Given the description of an element on the screen output the (x, y) to click on. 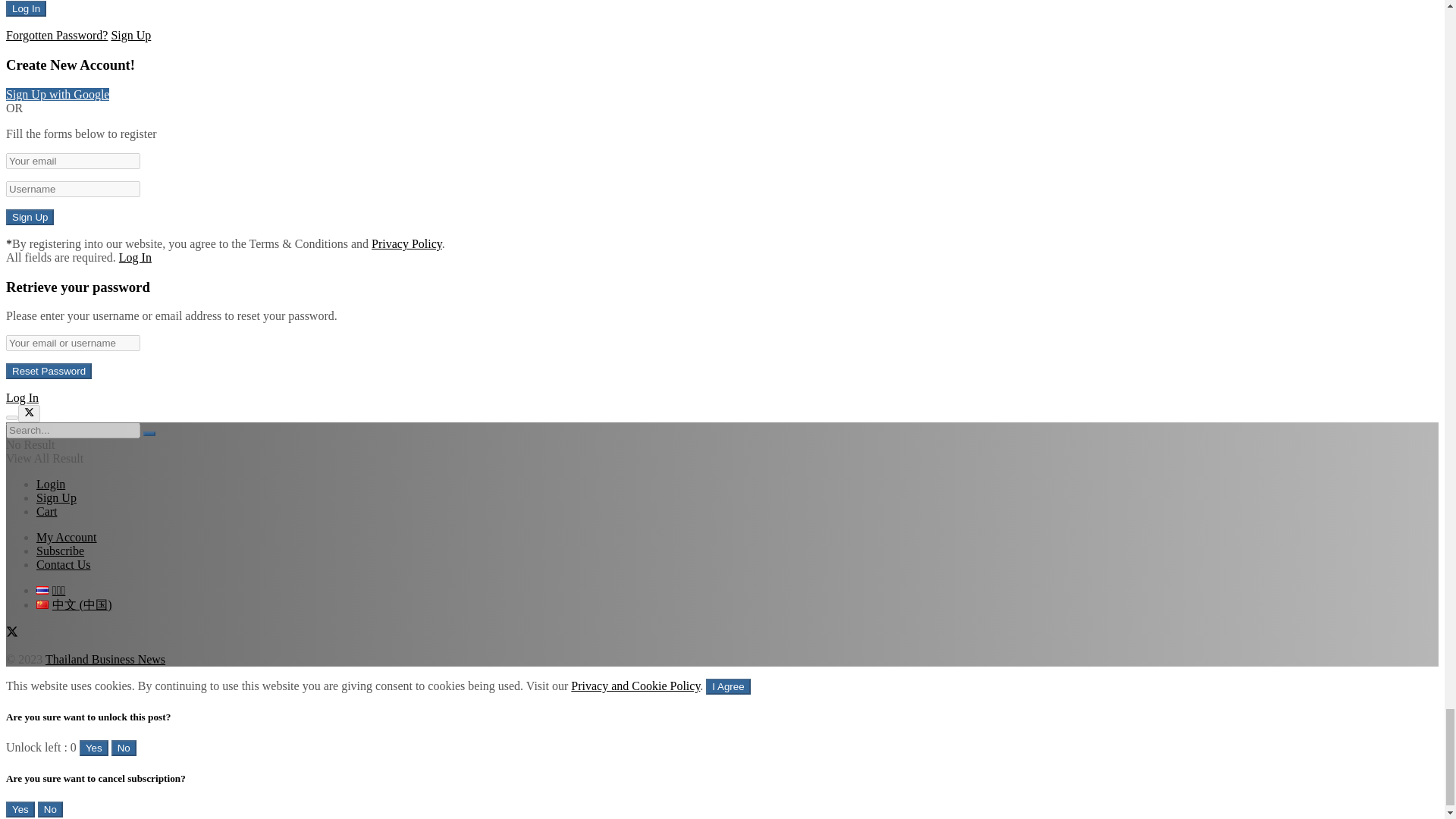
Sign Up (29, 217)
Log In (25, 8)
Reset Password (48, 371)
